Given the description of an element on the screen output the (x, y) to click on. 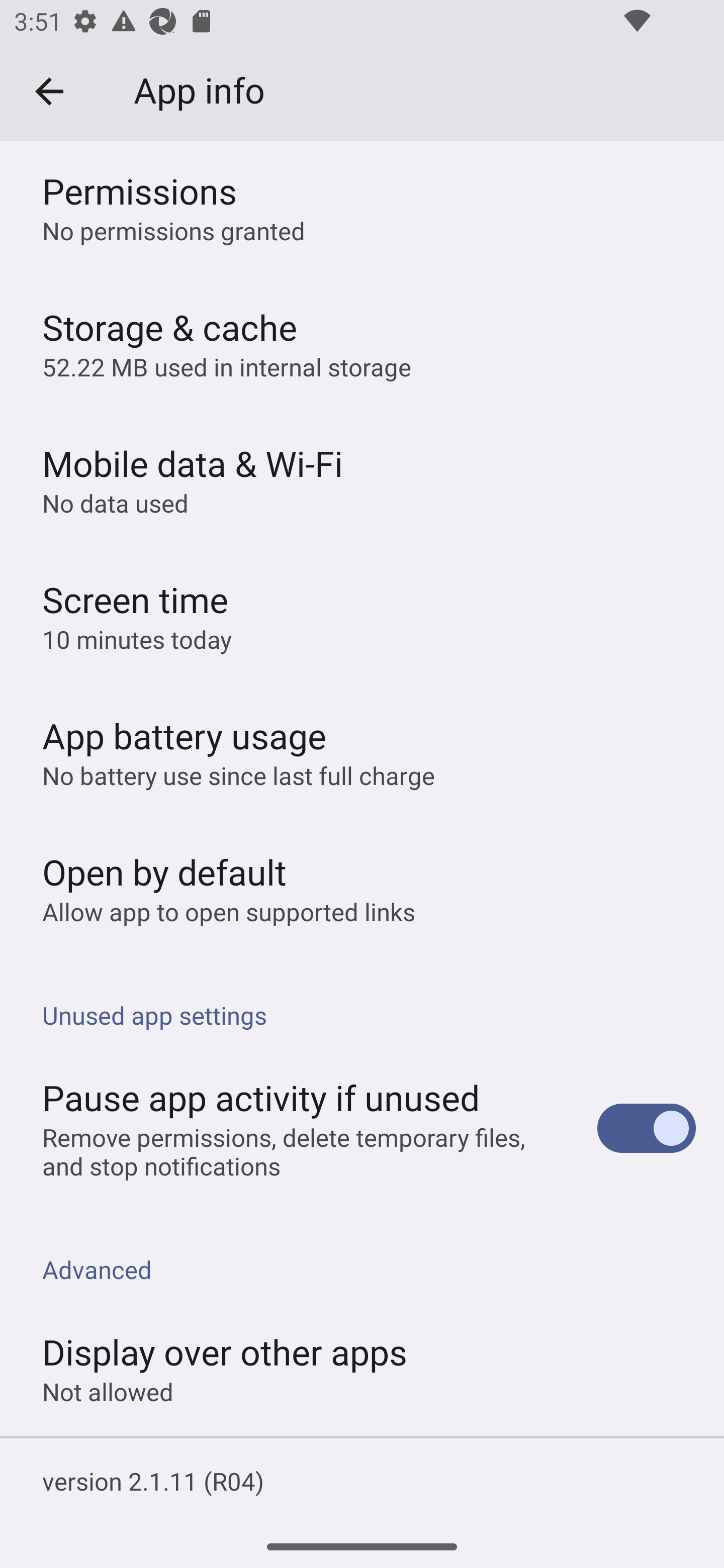
Navigate up (49, 91)
Permissions No permissions granted (362, 208)
Storage & cache 52.22 MB used in internal storage (362, 342)
Mobile data & Wi‑Fi No data used (362, 478)
Screen time 10 minutes today (362, 615)
Open by default Allow app to open supported links (362, 888)
Display over other apps Not allowed (362, 1367)
